Given the description of an element on the screen output the (x, y) to click on. 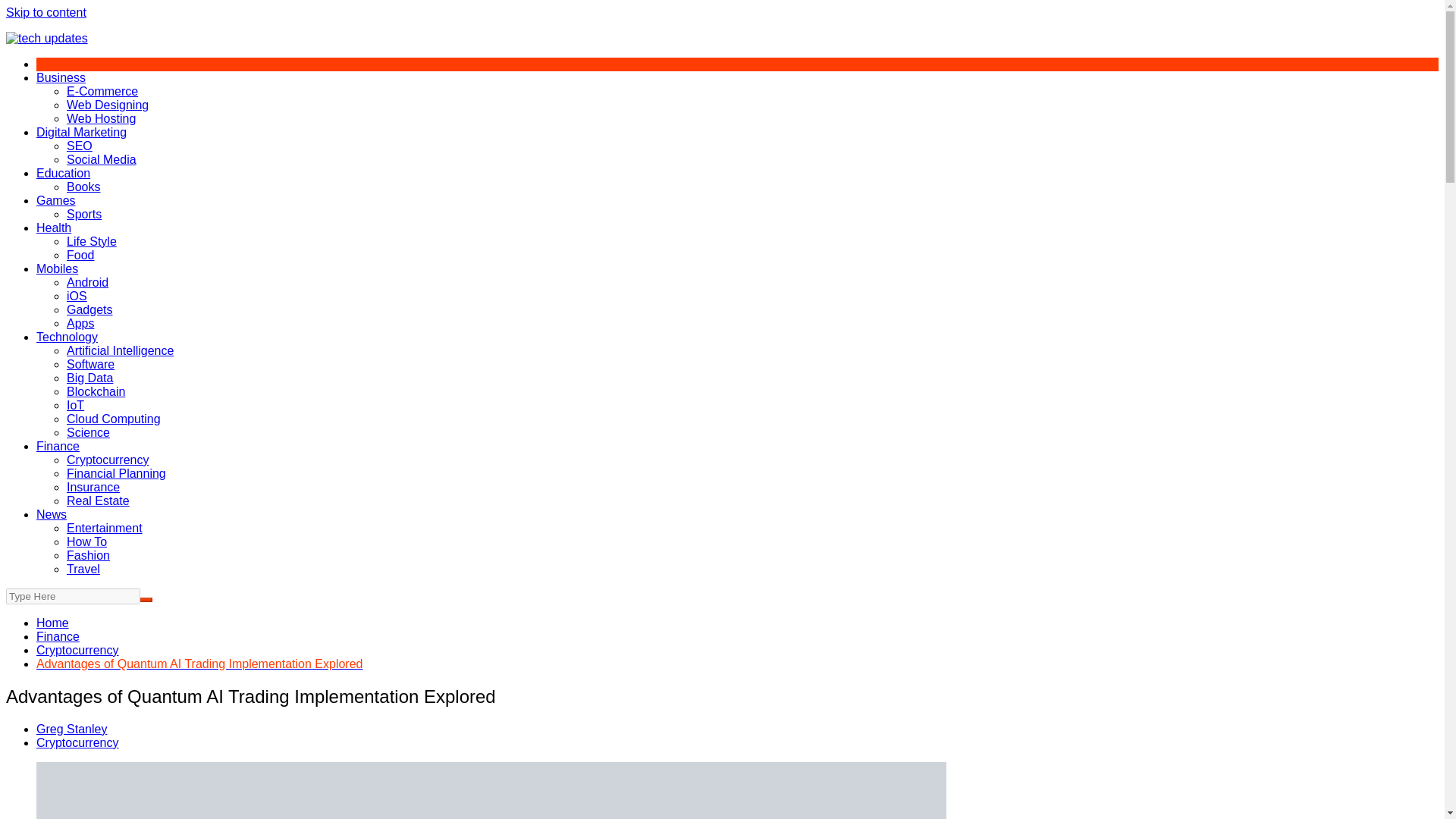
Sports (83, 214)
Business (60, 77)
Travel (83, 568)
Books (83, 186)
Web Designing (107, 104)
Artificial Intelligence (119, 350)
Real Estate (97, 500)
Android (86, 282)
Technology (66, 336)
Finance (58, 445)
